Given the description of an element on the screen output the (x, y) to click on. 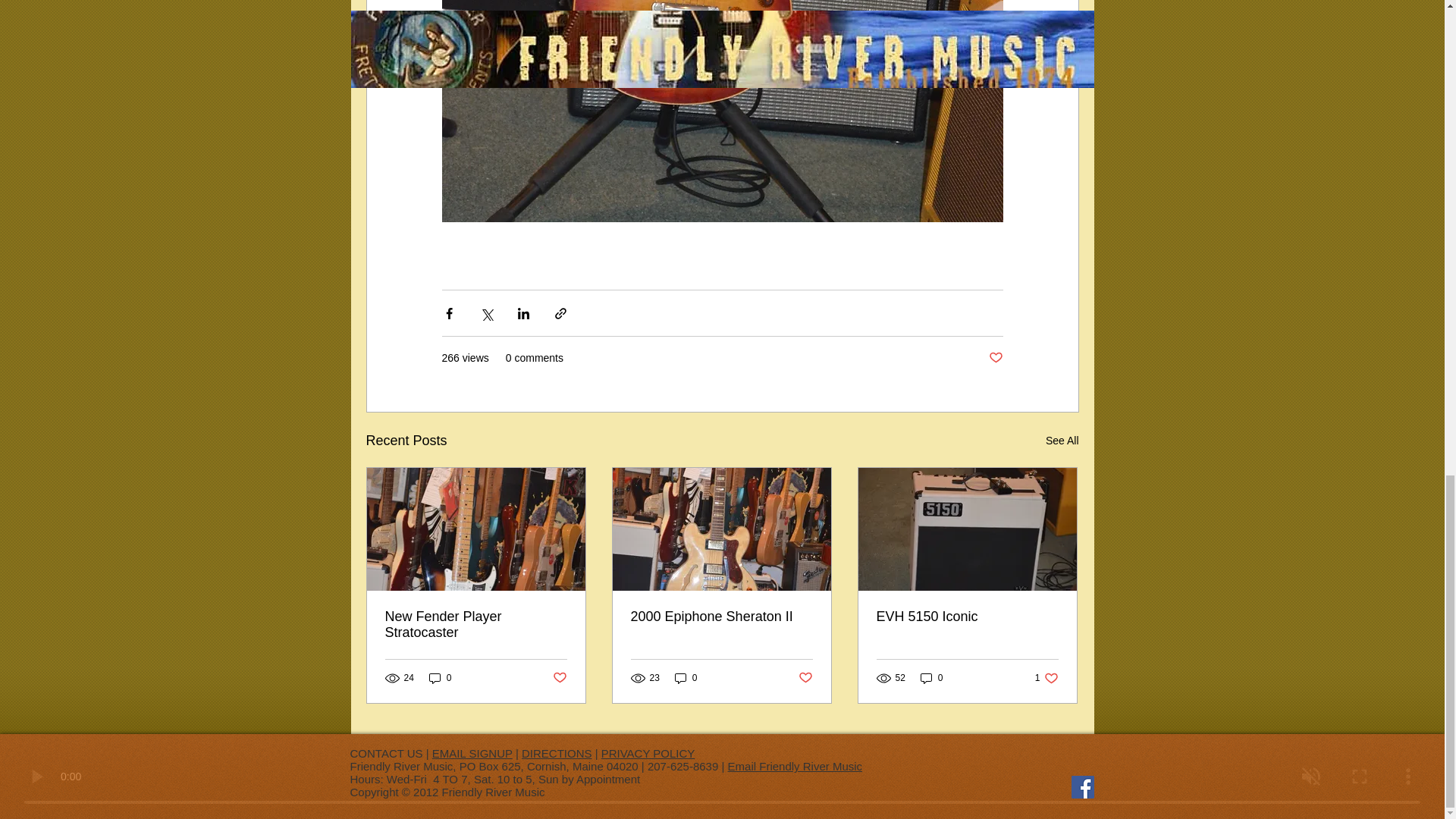
Post not marked as liked (995, 358)
EVH 5150 Iconic (967, 616)
EMAIL SIGNUP (472, 753)
Post not marked as liked (804, 678)
0 (440, 677)
0 (931, 677)
2000 Epiphone Sheraton II (721, 616)
Email Friendly River Music (795, 766)
PRIVACY POLICY (648, 753)
DIRECTIONS (556, 753)
